Given the description of an element on the screen output the (x, y) to click on. 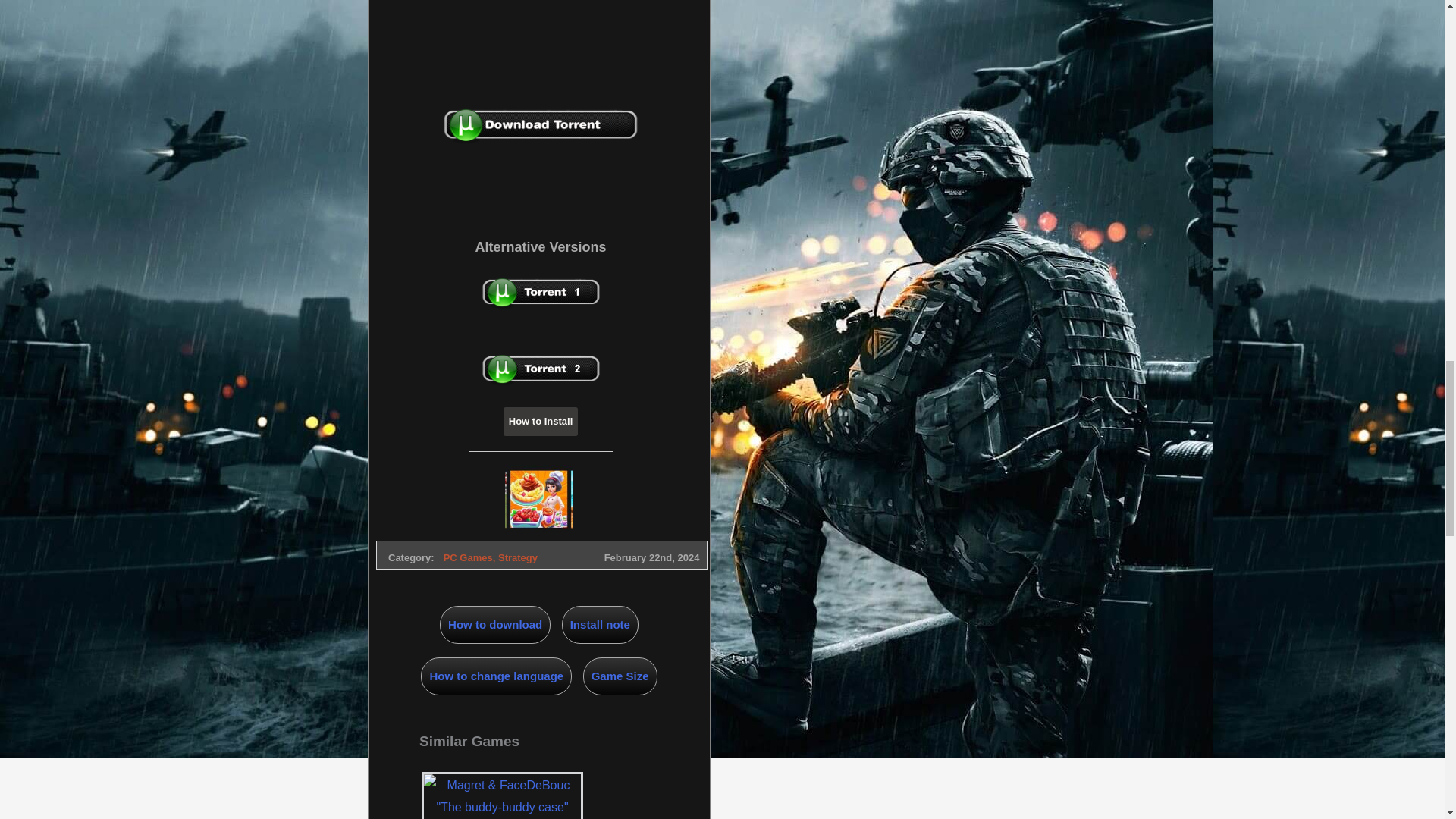
How to Install (540, 421)
PC Games (468, 557)
Strategy (517, 557)
How to download (494, 624)
How to change language (496, 676)
Install note (600, 624)
